Given the description of an element on the screen output the (x, y) to click on. 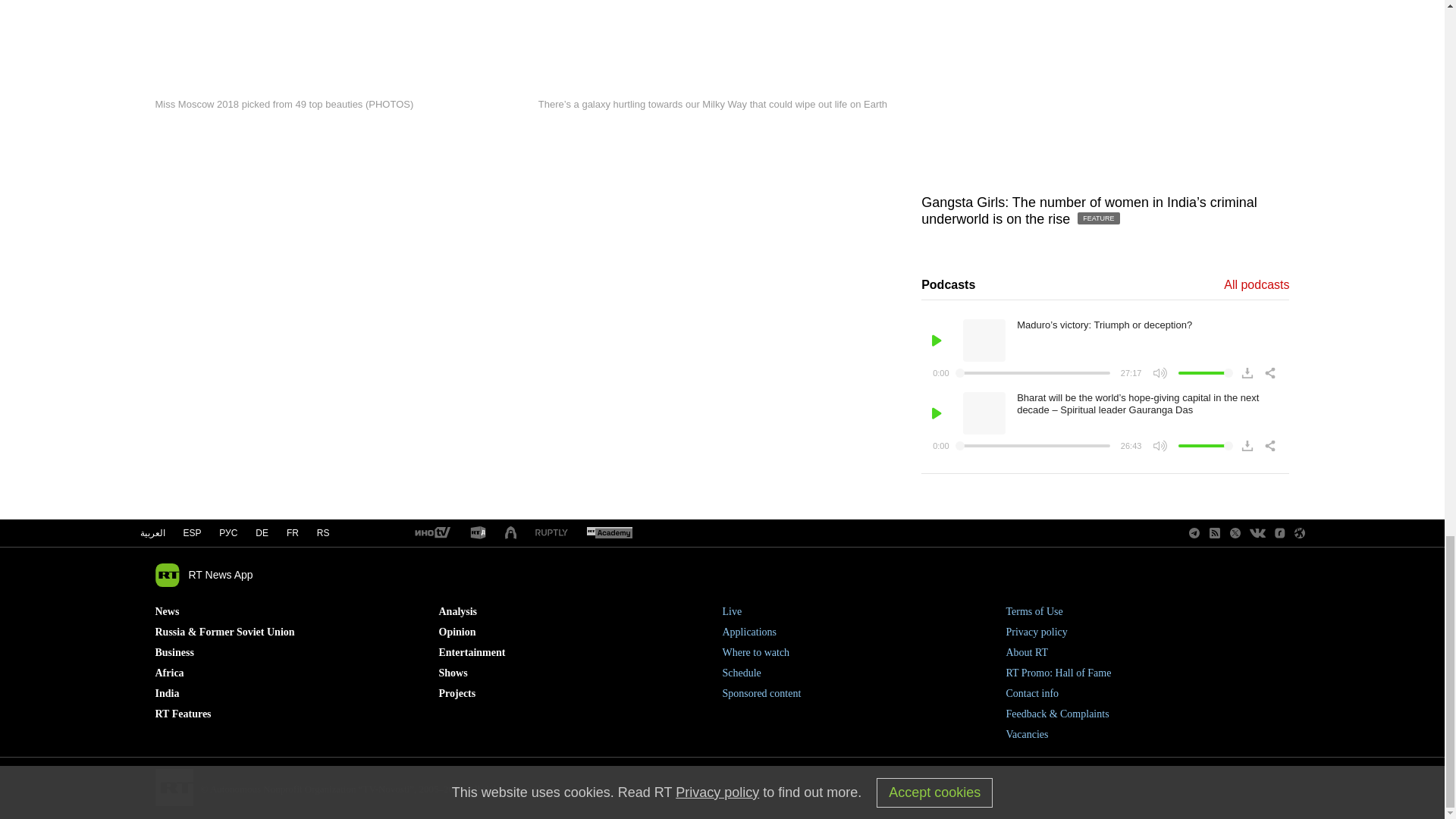
RT  (608, 533)
RT  (551, 533)
RT  (431, 533)
RT  (478, 533)
